Given the description of an element on the screen output the (x, y) to click on. 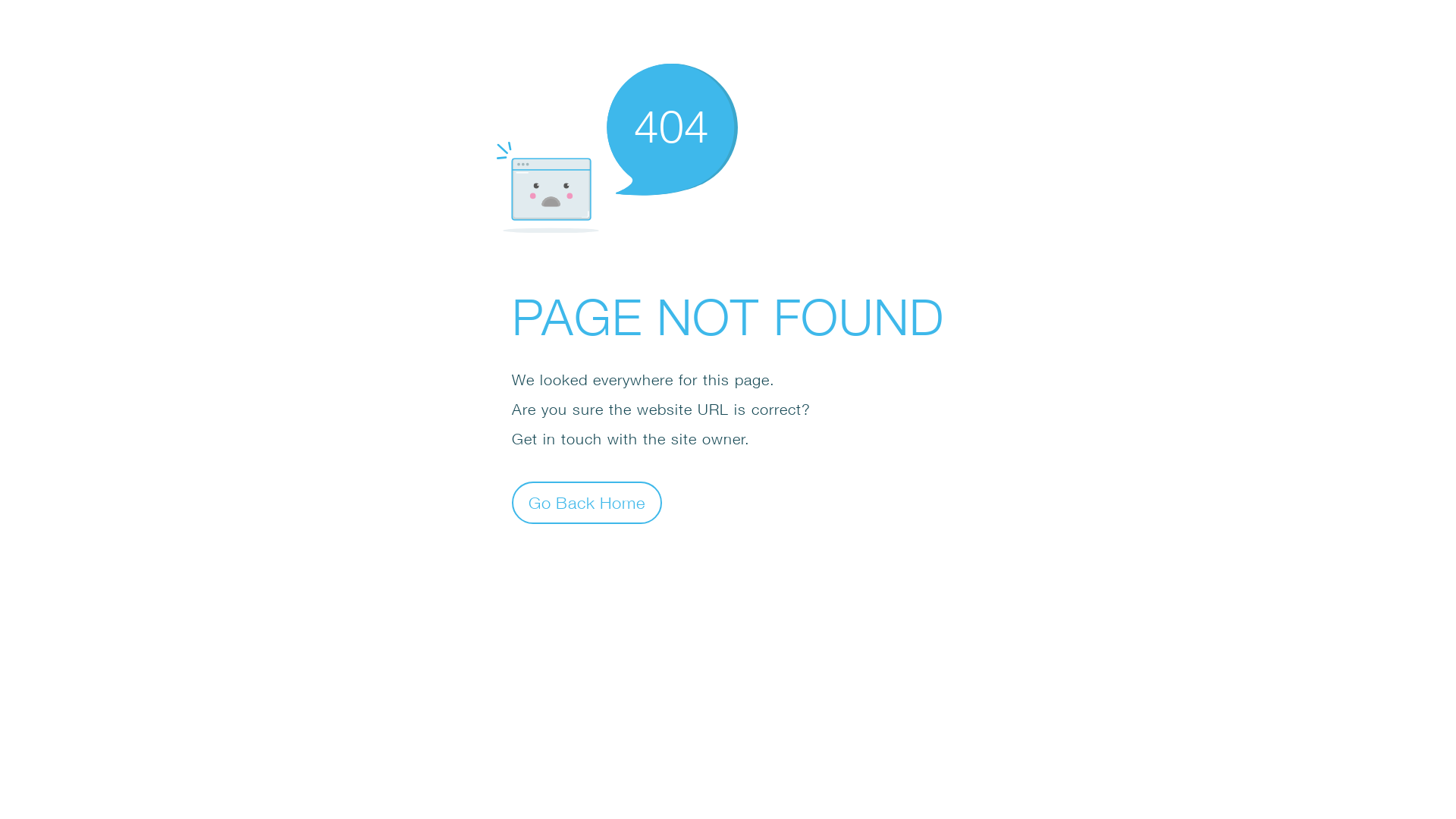
Go Back Home Element type: text (586, 502)
